Given the description of an element on the screen output the (x, y) to click on. 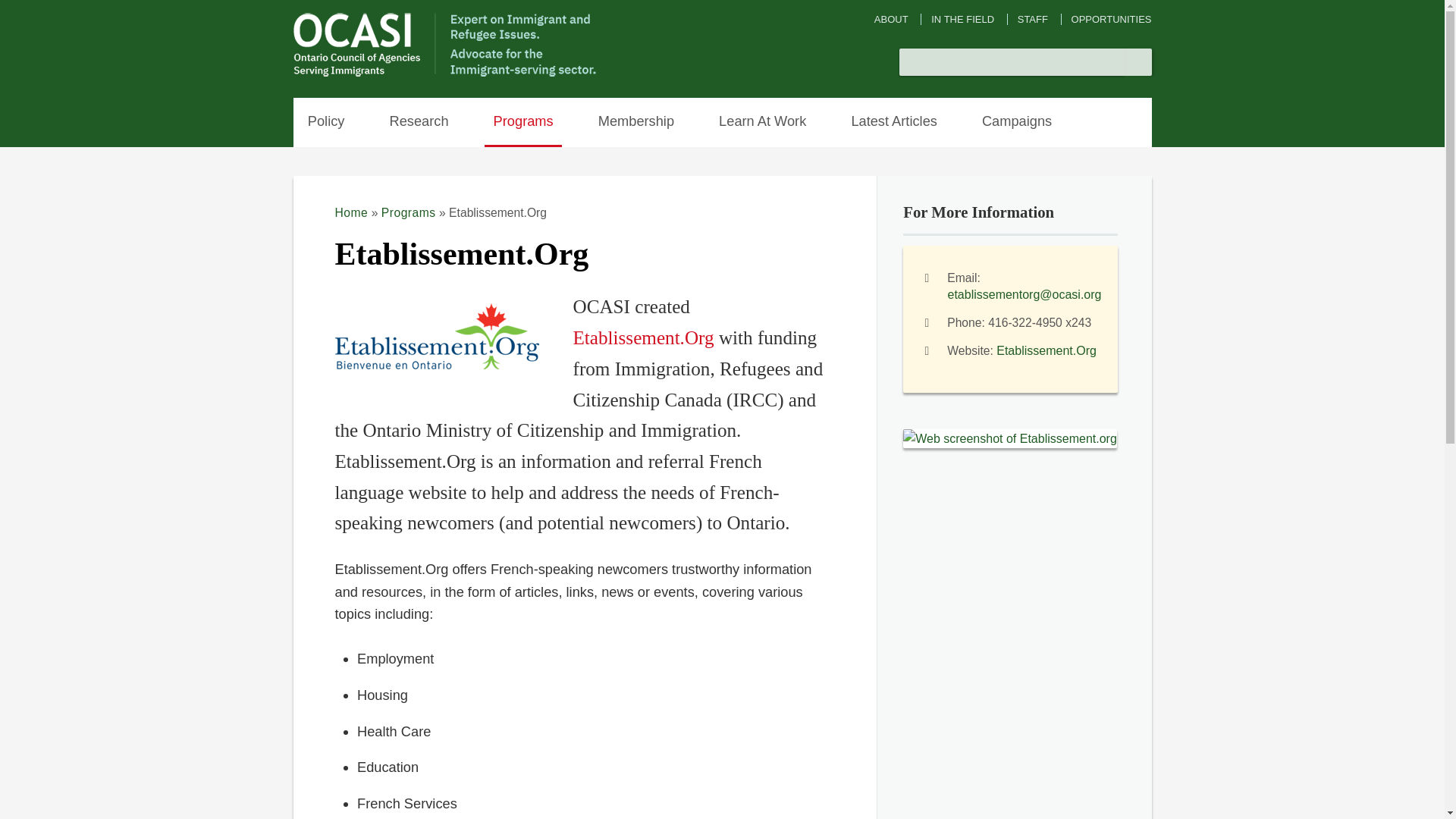
Programs (408, 212)
Learn At Work (762, 122)
Etablissement.Org (1045, 350)
Home (445, 74)
ABOUT (891, 19)
Enter the terms you wish to search for. (1011, 62)
Programs (523, 122)
OPPORTUNITIES (1111, 19)
Home (351, 212)
Learn At Work (762, 122)
Programs (523, 122)
Research (418, 122)
Programs (408, 212)
Search (1137, 62)
Search (1137, 62)
